Given the description of an element on the screen output the (x, y) to click on. 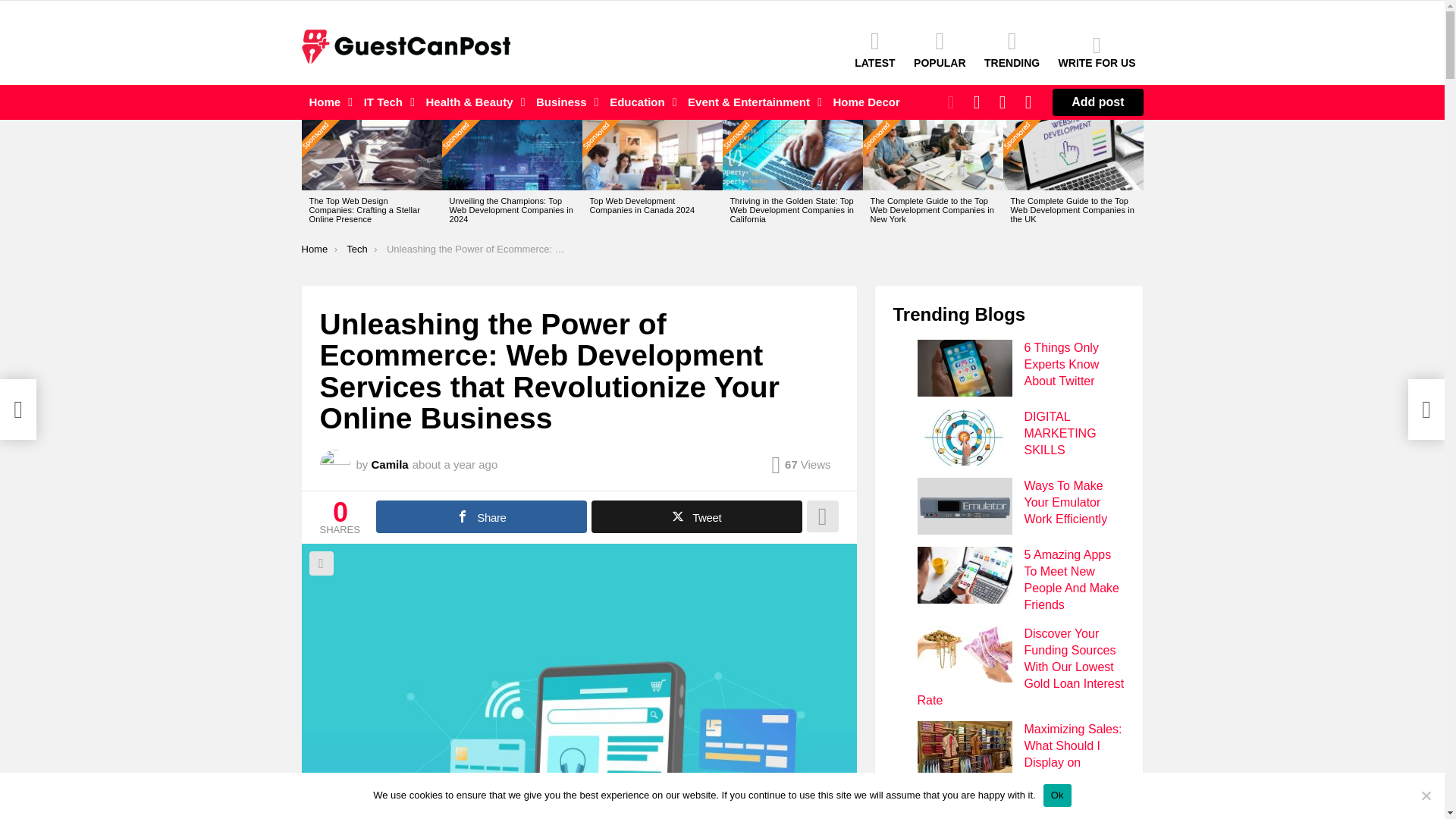
Posts by Camila Jackson (390, 463)
Business (563, 101)
WRITE FOR US (1096, 51)
Top Web Development Companies in Canada 2024 (652, 154)
IT Tech (385, 101)
Home Decor (866, 101)
Education (639, 101)
July 17, 2023, 6:39 am (454, 464)
Home (327, 101)
LATEST (874, 48)
